Given the description of an element on the screen output the (x, y) to click on. 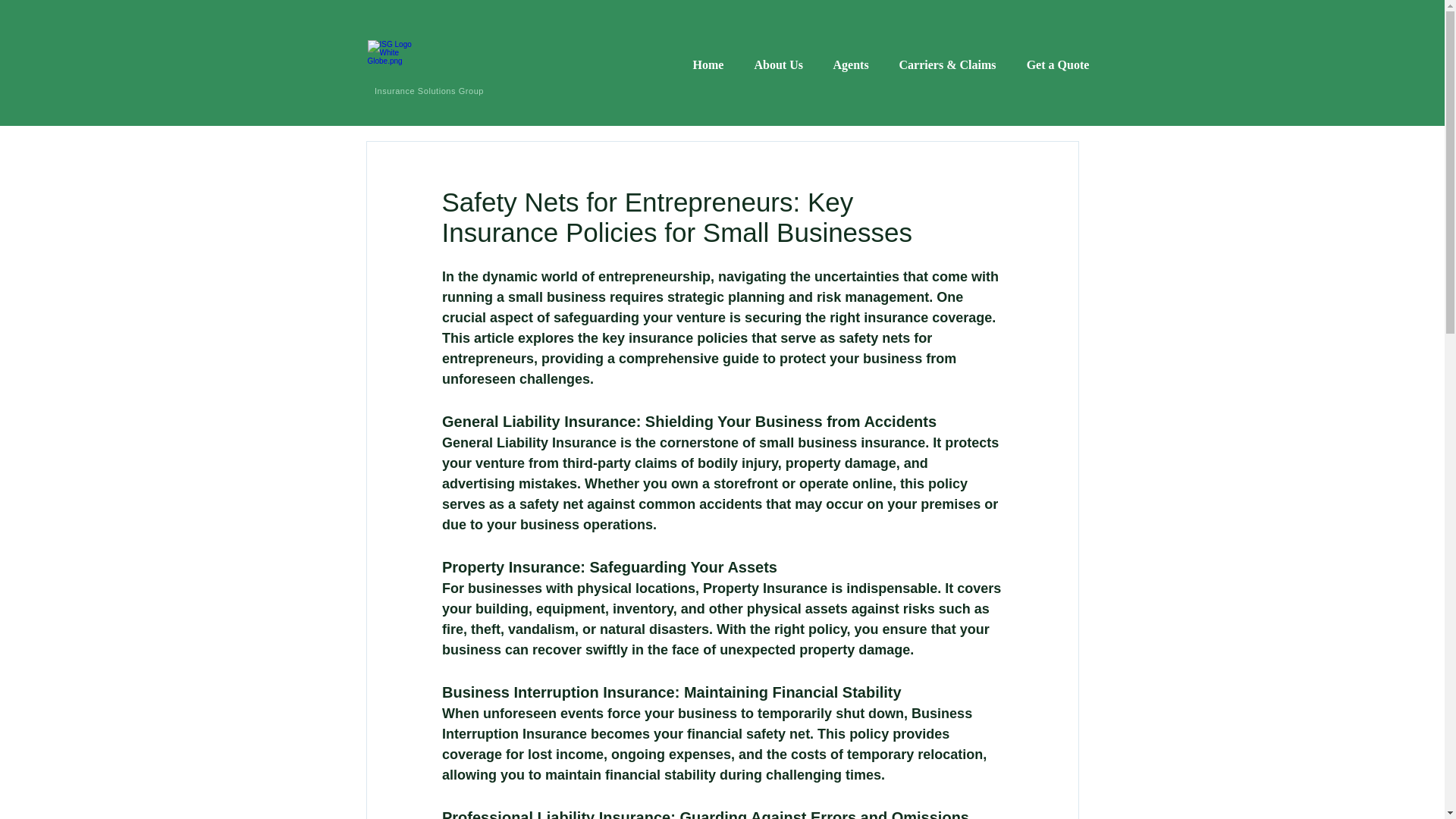
About Us (777, 64)
Agents (849, 64)
Get a Quote (1058, 64)
Home (708, 64)
